Given the description of an element on the screen output the (x, y) to click on. 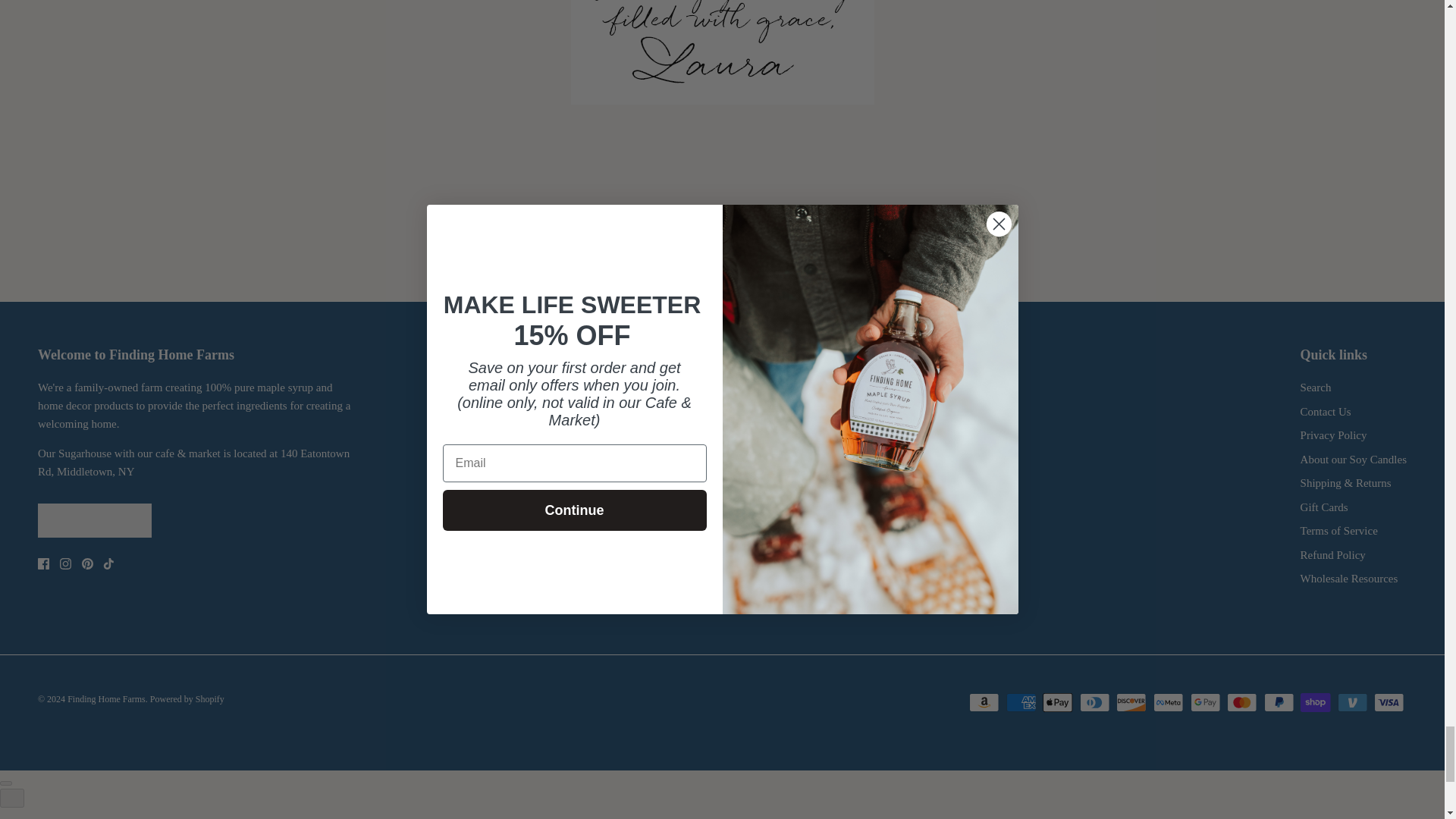
PayPal (1278, 701)
Discover (1130, 701)
American Express (1021, 701)
Meta Pay (1168, 701)
Instagram (65, 563)
Pinterest (87, 563)
Shop Pay (1315, 701)
Facebook (43, 563)
Apple Pay (1057, 701)
Mastercard (1241, 701)
Diners Club (1094, 701)
Amazon (983, 701)
Google Pay (1205, 701)
